Given the description of an element on the screen output the (x, y) to click on. 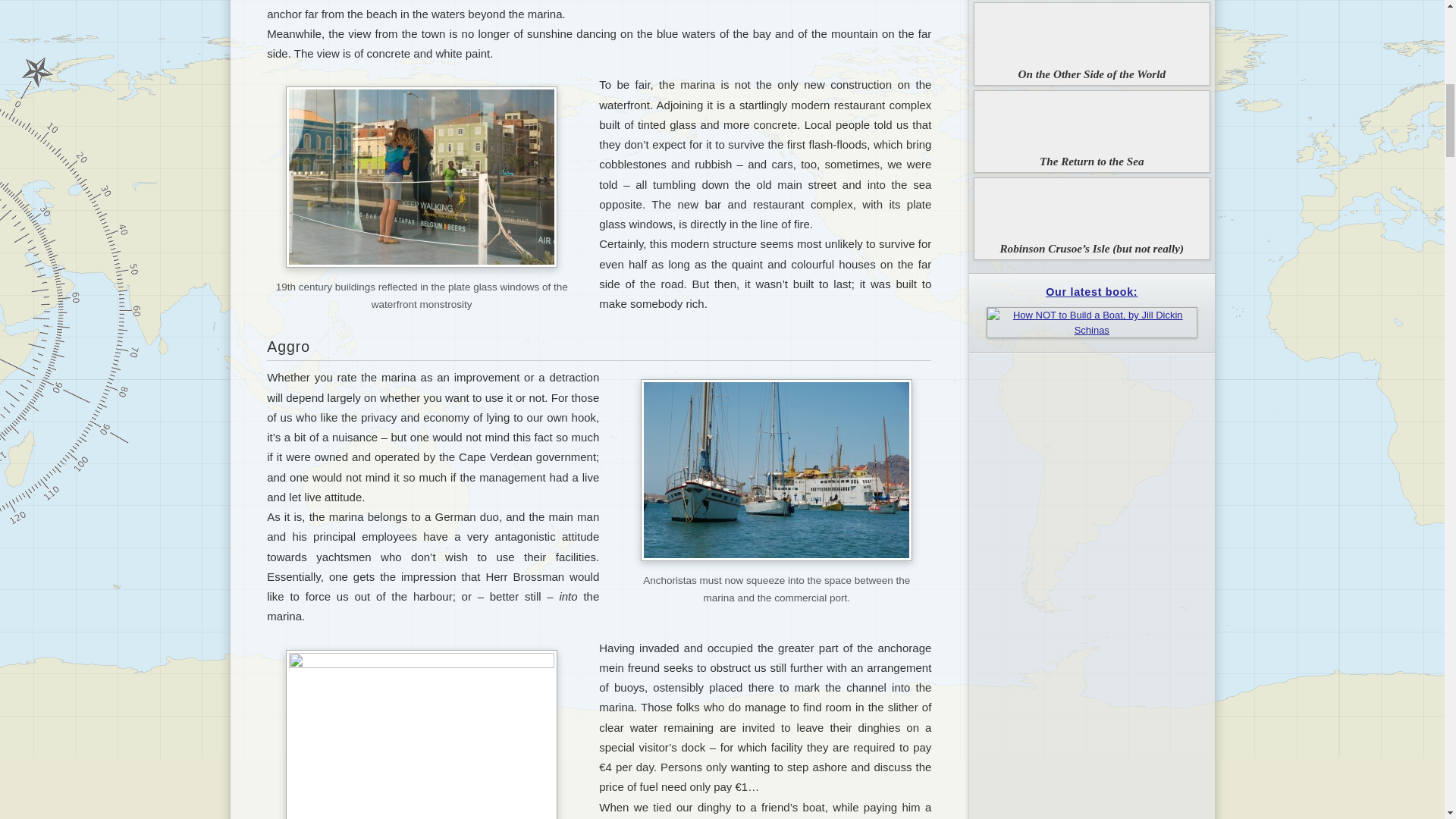
The waterfront in Mindelo, seen from the marina (421, 734)
